Given the description of an element on the screen output the (x, y) to click on. 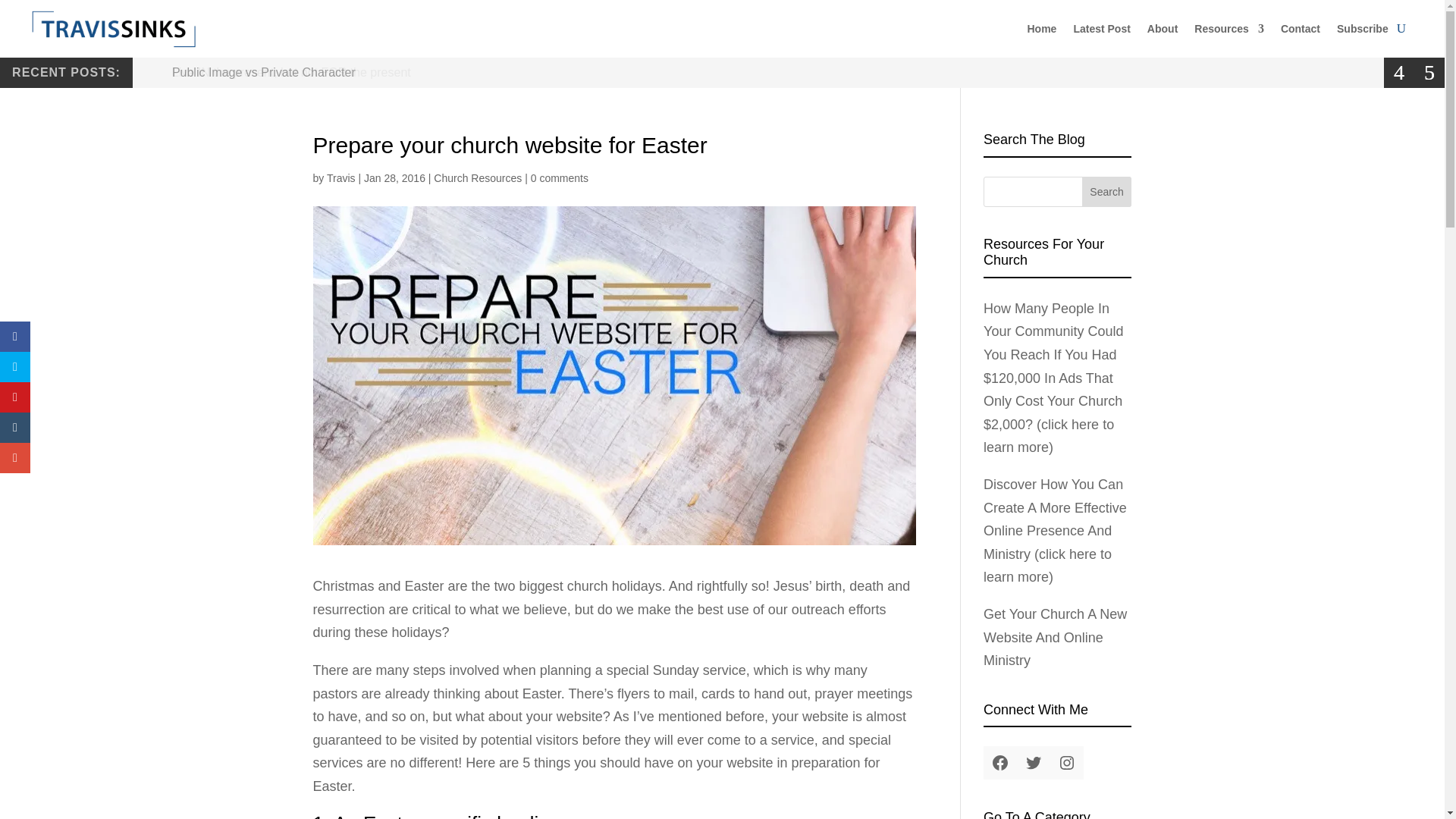
Public Image vs Private Character (263, 72)
Search (1106, 191)
Posts by Travis (340, 177)
Latest Post (1101, 28)
Subscribe (1362, 28)
Travis (340, 177)
Live IN the present, but not FOR the present (290, 74)
Resources (1228, 28)
